Given the description of an element on the screen output the (x, y) to click on. 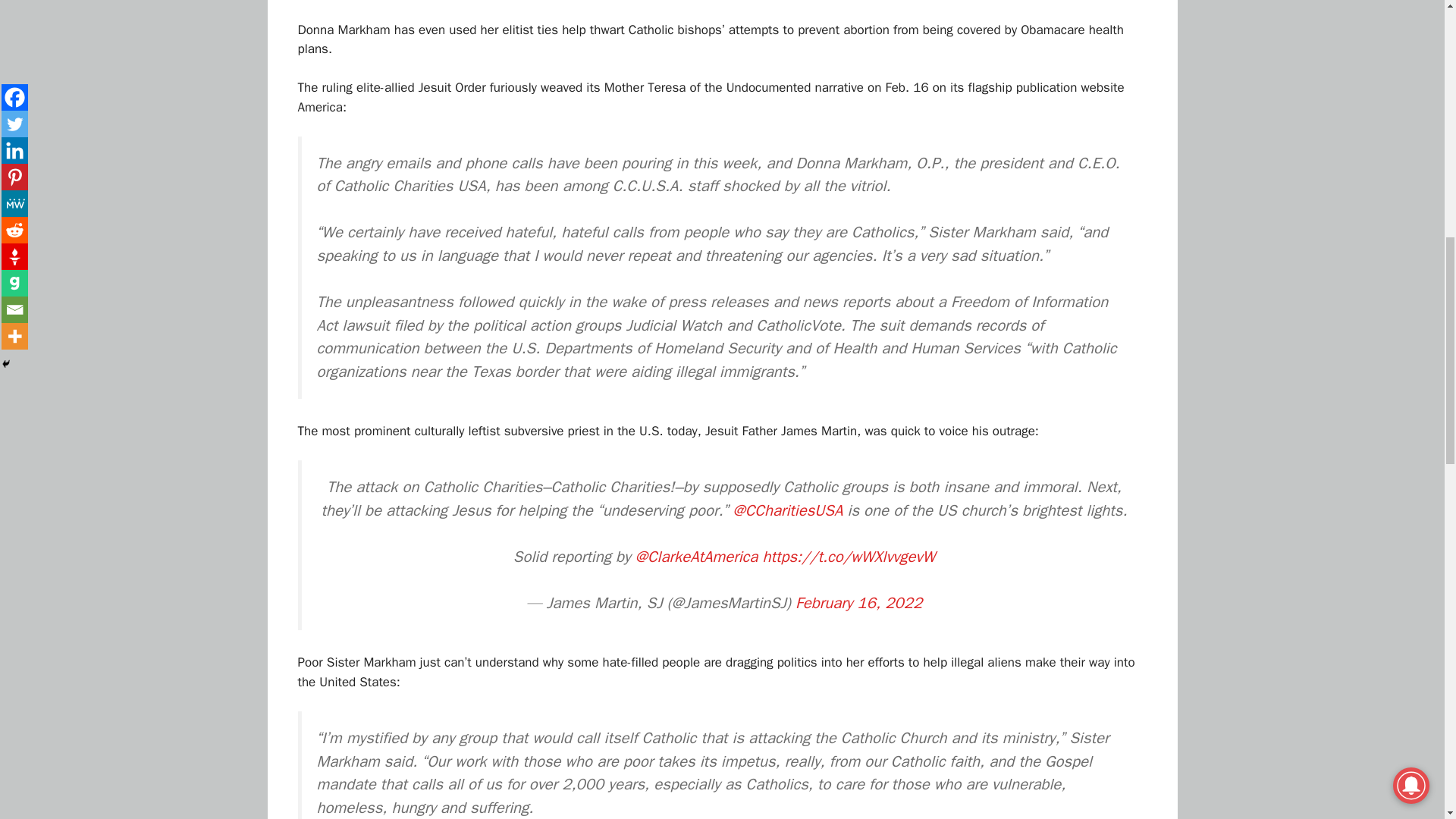
February 16, 2022 (857, 602)
